Given the description of an element on the screen output the (x, y) to click on. 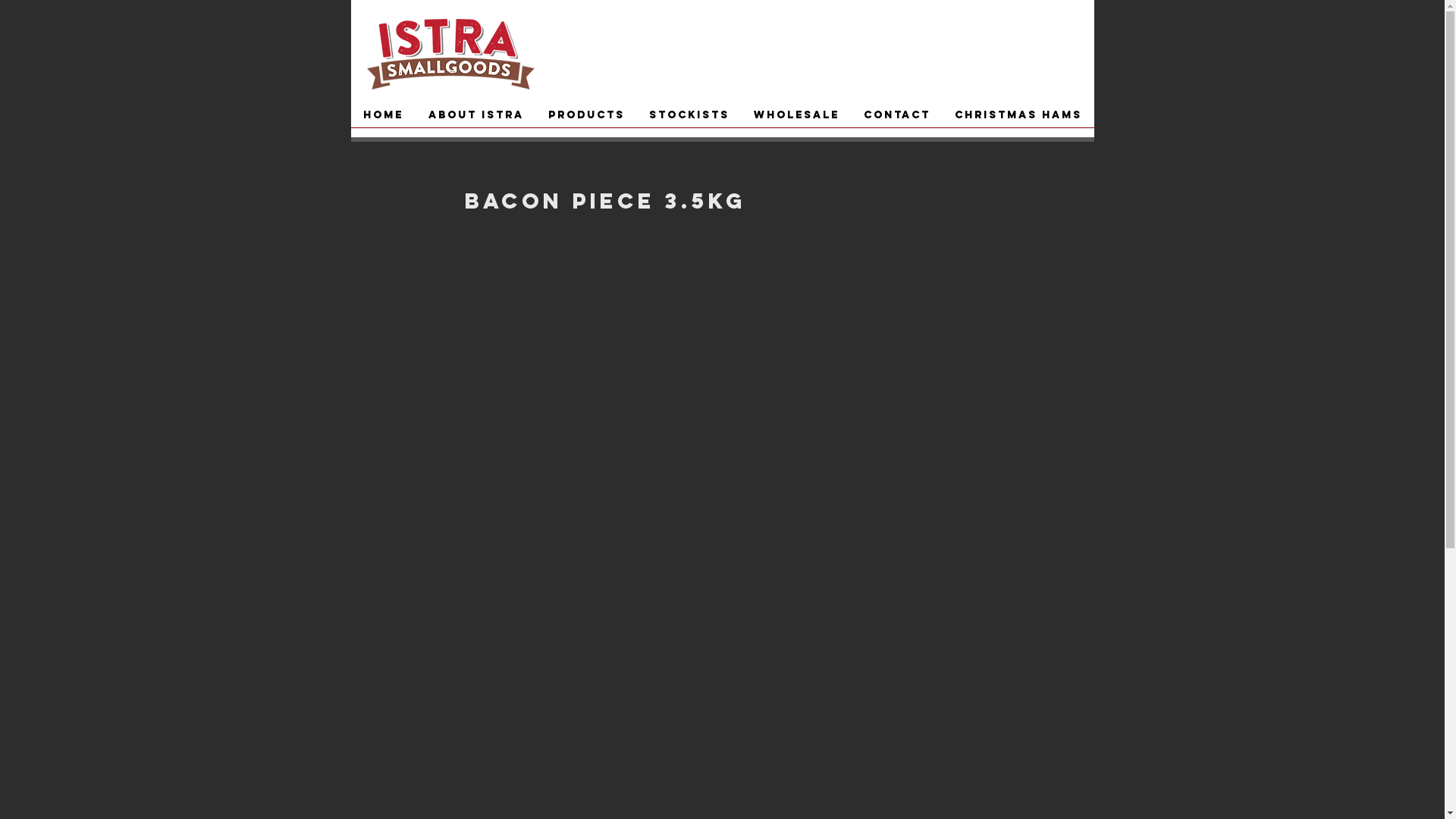
ISTRA_LOGO_WEB.png Element type: hover (446, 50)
CHRISTMAS HAMS Element type: text (1017, 119)
ABOUT ISTRA Element type: text (475, 119)
HOME Element type: text (382, 119)
PRODUCTS Element type: text (585, 119)
Bacon Piece 3.5kg Element type: hover (721, 459)
Stockists Element type: text (689, 119)
CONTACT Element type: text (895, 119)
WHOLESALE Element type: text (796, 119)
